Given the description of an element on the screen output the (x, y) to click on. 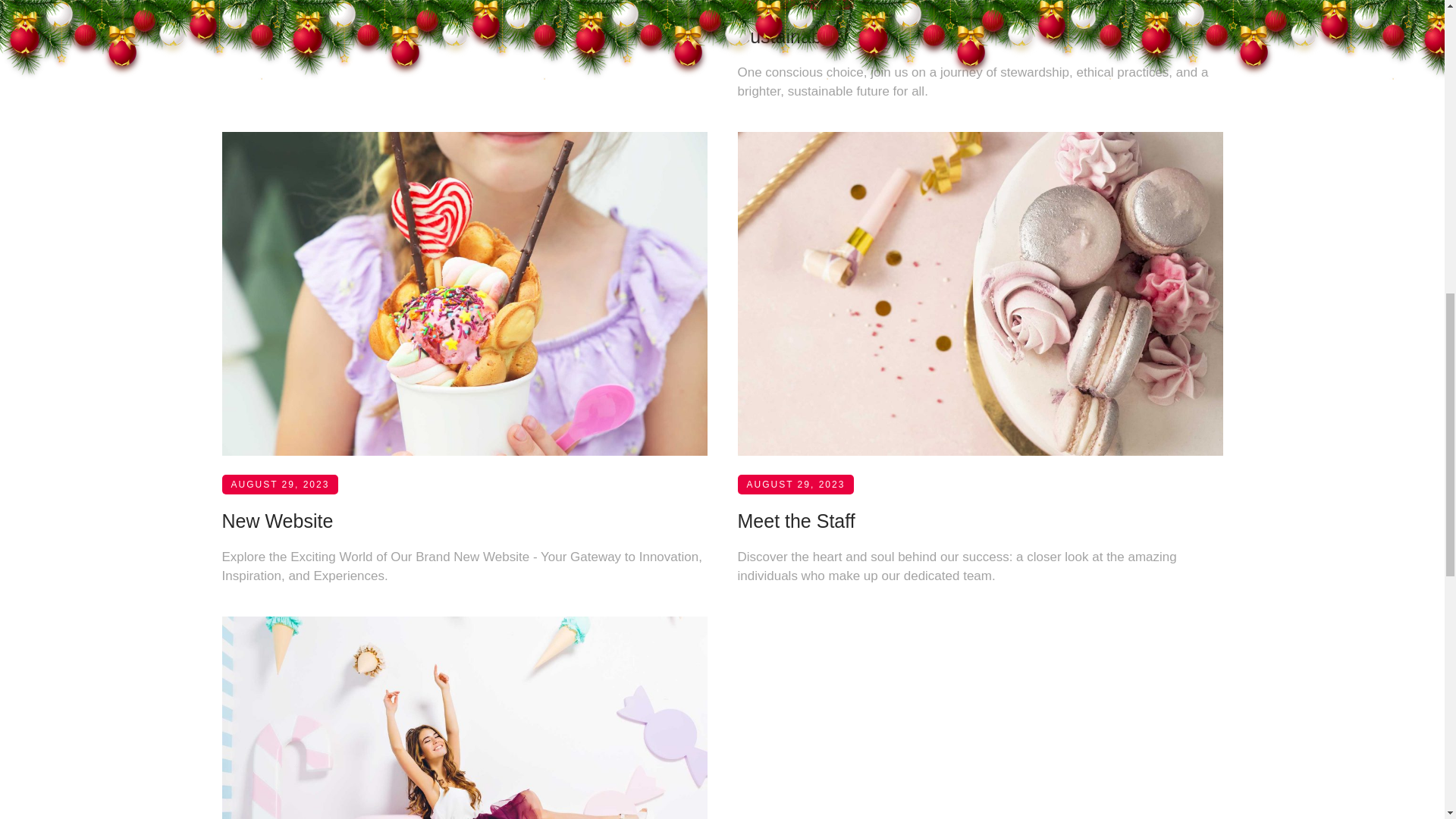
AUGUST 29, 2023 (794, 595)
New Website (277, 703)
Hello world! (270, 224)
NOVEMBER 22, 2023 (288, 252)
Sustainability (792, 402)
AUGUST 29, 2023 (279, 696)
Meet the Staff (795, 612)
AUGUST 29, 2023 (794, 414)
